Given the description of an element on the screen output the (x, y) to click on. 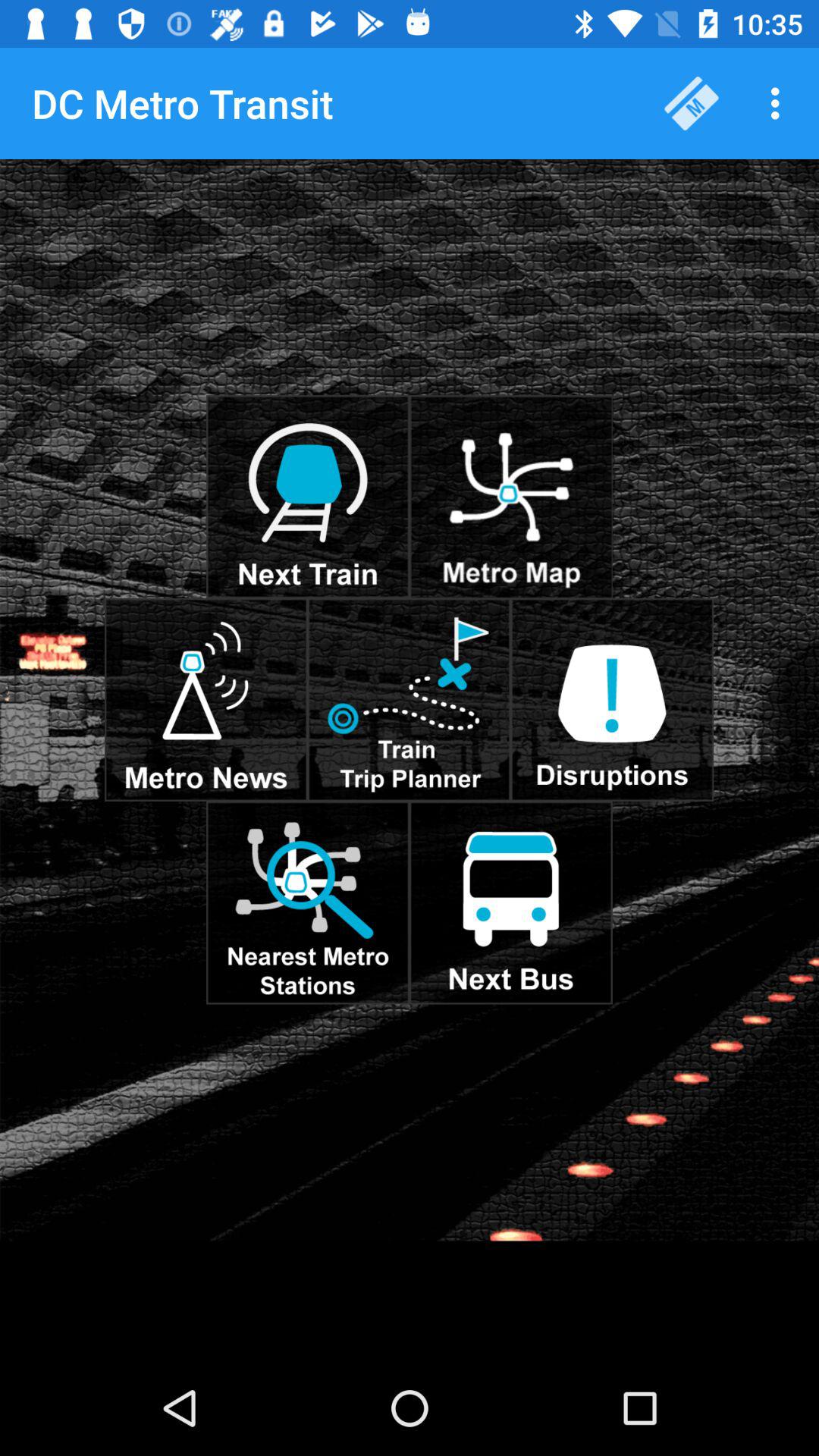
plan a train trip (408, 699)
